Given the description of an element on the screen output the (x, y) to click on. 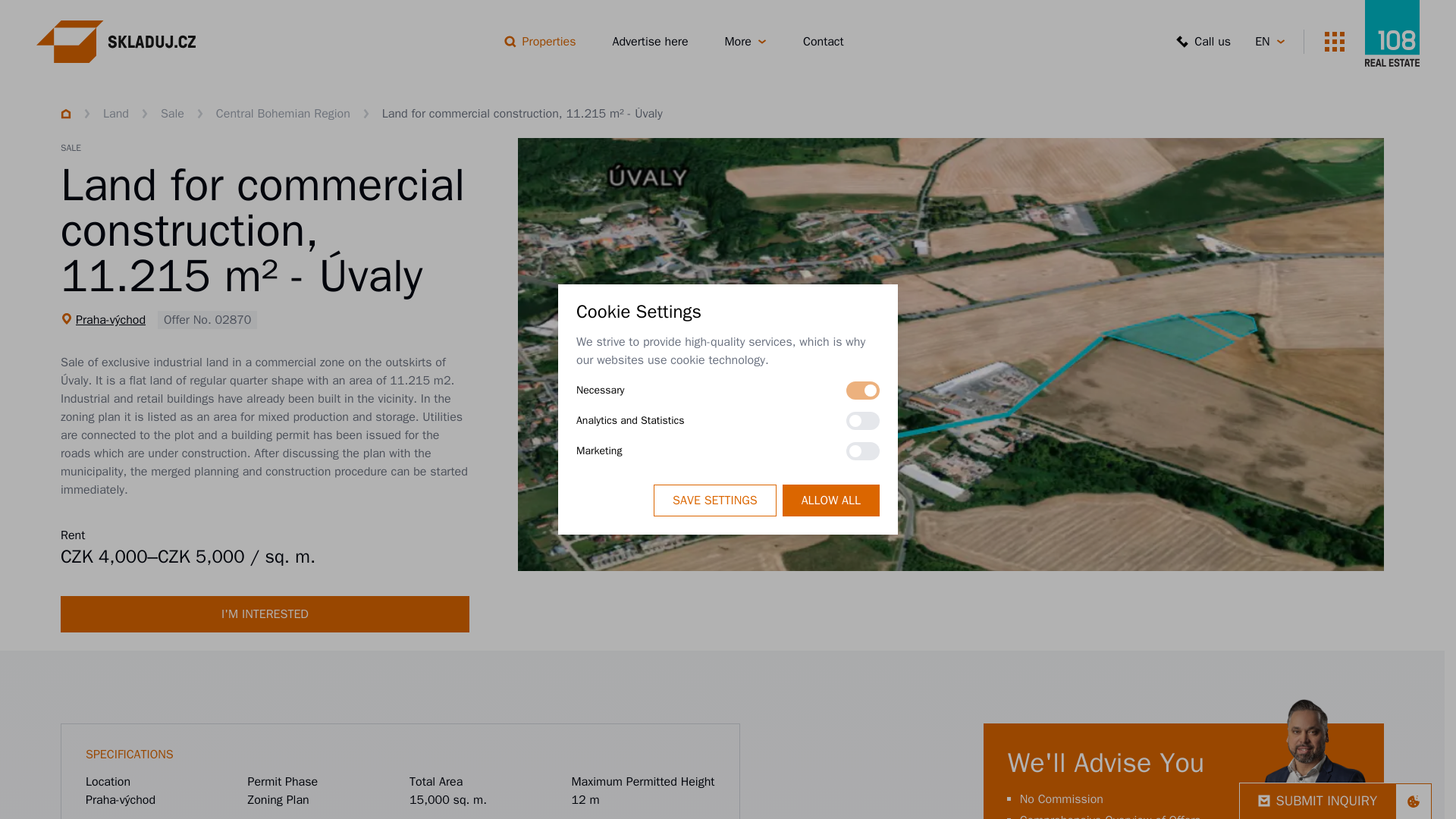
Contact (823, 41)
Sale (172, 113)
I'M INTERESTED (264, 614)
Properties (539, 41)
Call us (1203, 41)
More (746, 41)
Land (116, 113)
EN (1270, 41)
Central Bohemian Region (282, 113)
Advertise here (650, 41)
